Given the description of an element on the screen output the (x, y) to click on. 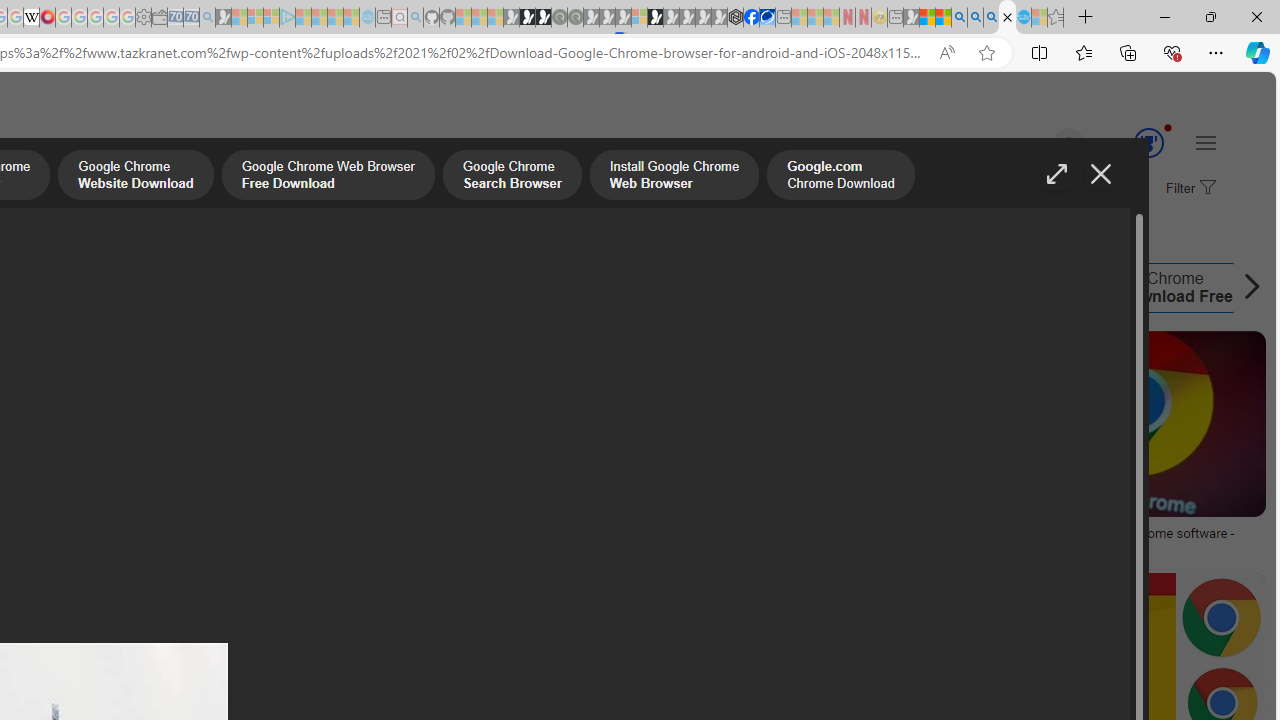
Image result for Google Chrome Internet Browser Download (1221, 617)
Target page - Wikipedia (31, 17)
How to update google chrome software - angelbapSave (1127, 448)
Google Chrome for Download (933, 287)
Latest Google Chrome Free Download (228, 287)
Google Chrome UK Download Free (1060, 287)
Google.com Chrome Download (840, 177)
Microsoft account | Privacy - Sleeping (271, 17)
Latest Google Chrome Free Download (322, 287)
